Given the description of an element on the screen output the (x, y) to click on. 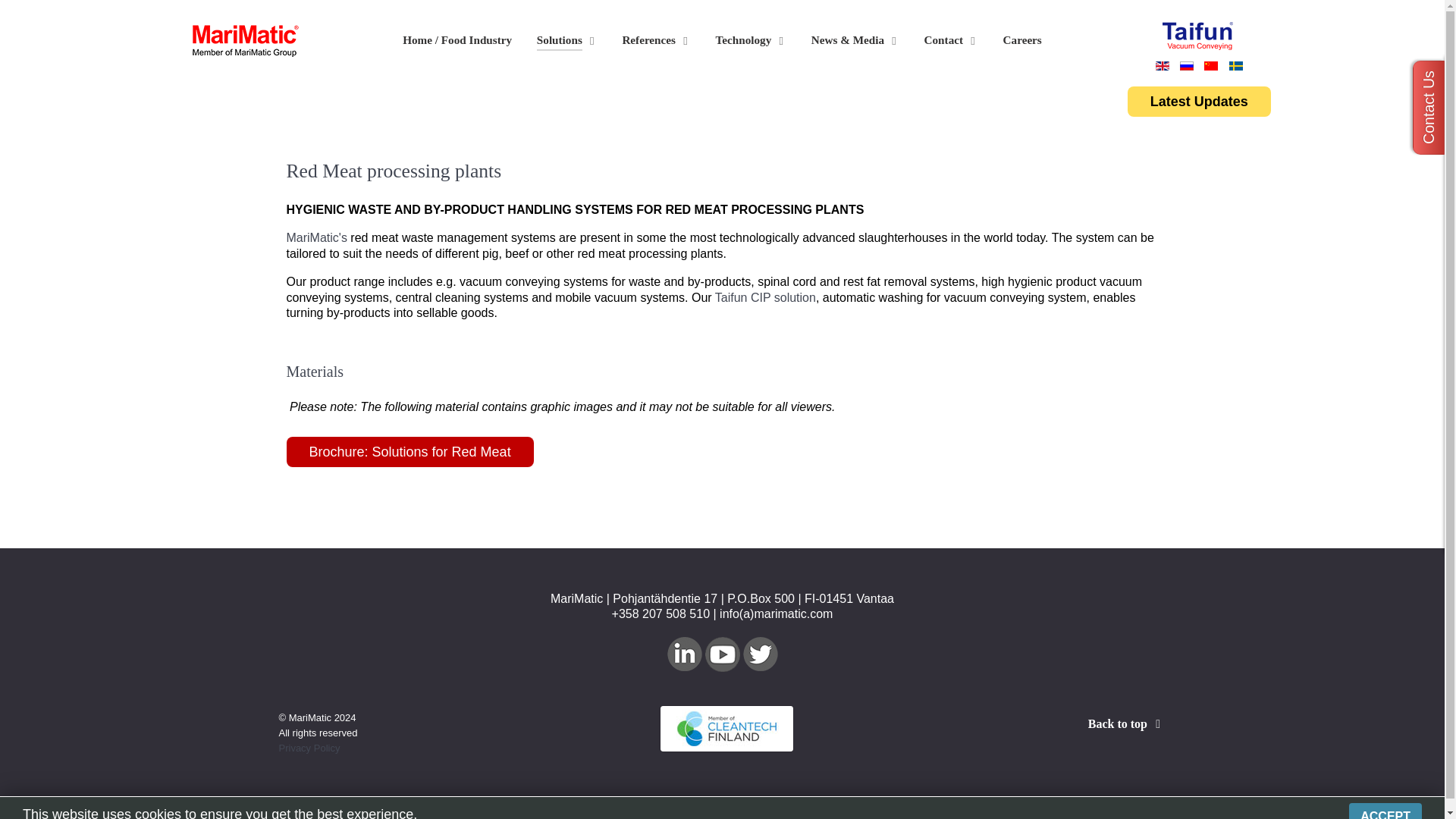
Russian (1186, 65)
English (1162, 65)
Back to top (1126, 723)
